Given the description of an element on the screen output the (x, y) to click on. 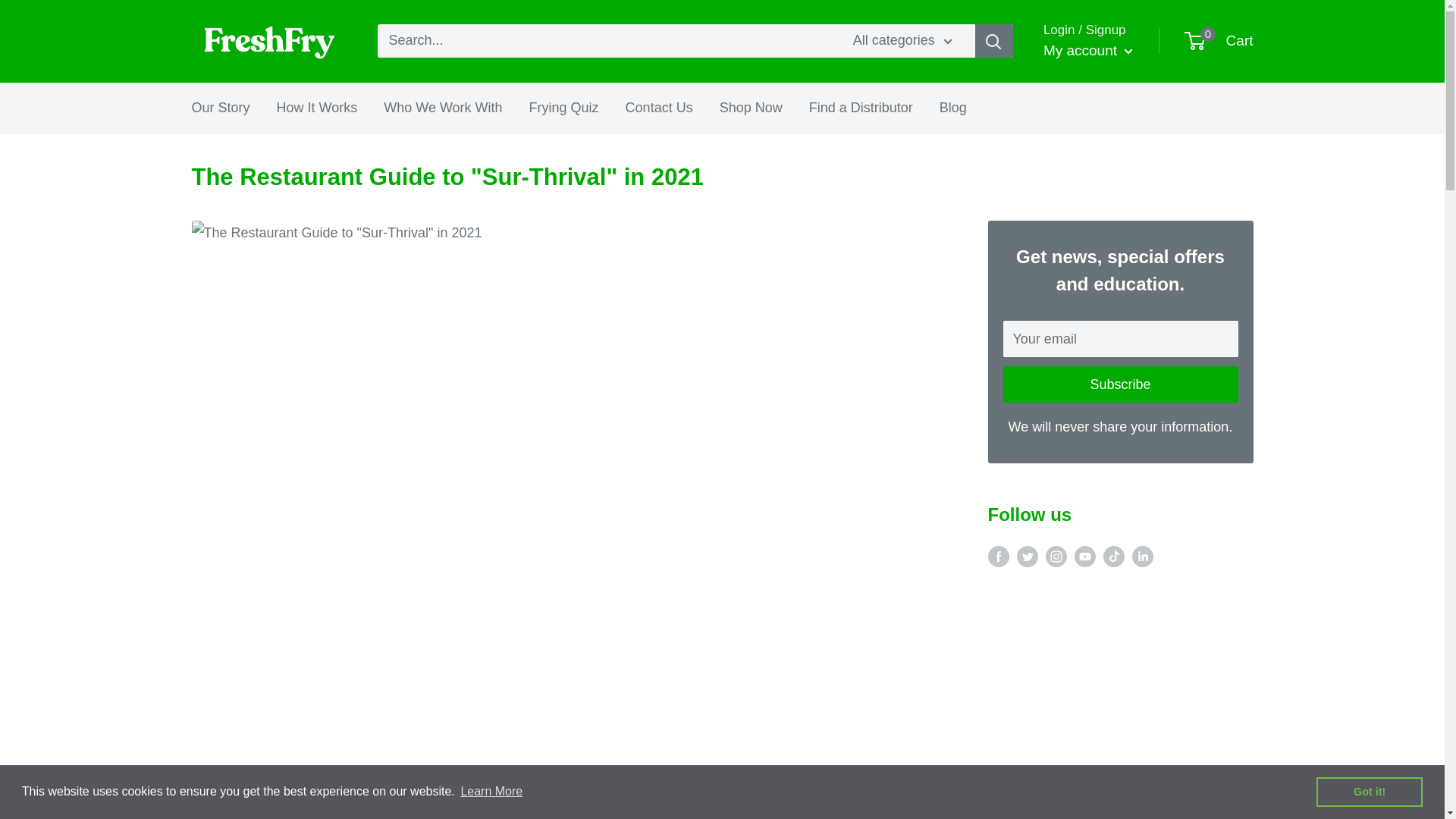
Got it! (1369, 791)
Find a Distributor (860, 108)
Contact Us (659, 108)
Frying Quiz (563, 108)
Shop Now (751, 108)
FreshFry (268, 41)
Our Story (1219, 40)
Who We Work With (219, 108)
My account (443, 108)
